Given the description of an element on the screen output the (x, y) to click on. 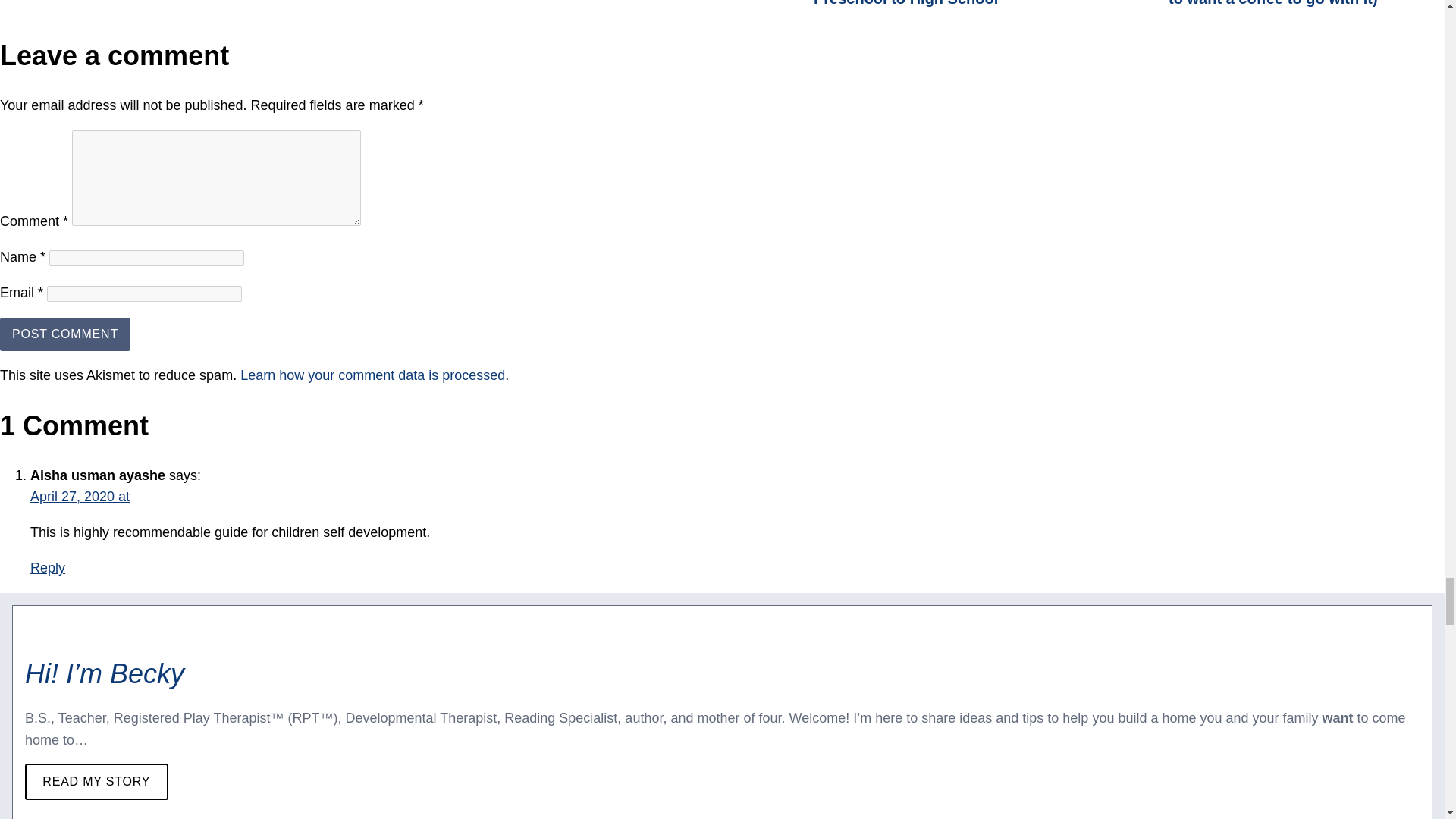
Post Comment (65, 334)
